Given the description of an element on the screen output the (x, y) to click on. 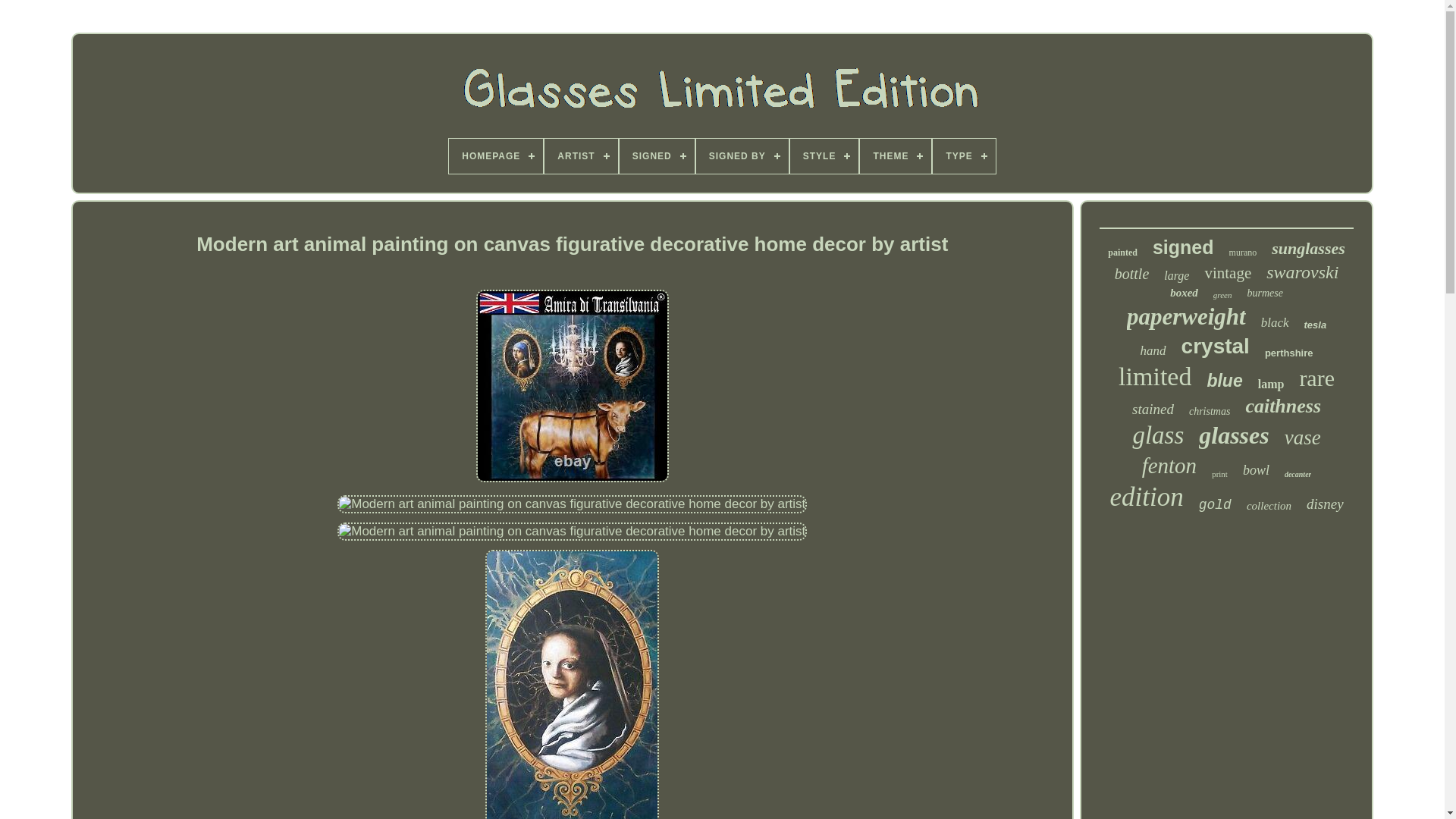
ARTIST (580, 155)
SIGNED (657, 155)
HOMEPAGE (495, 155)
SIGNED BY (742, 155)
